Given the description of an element on the screen output the (x, y) to click on. 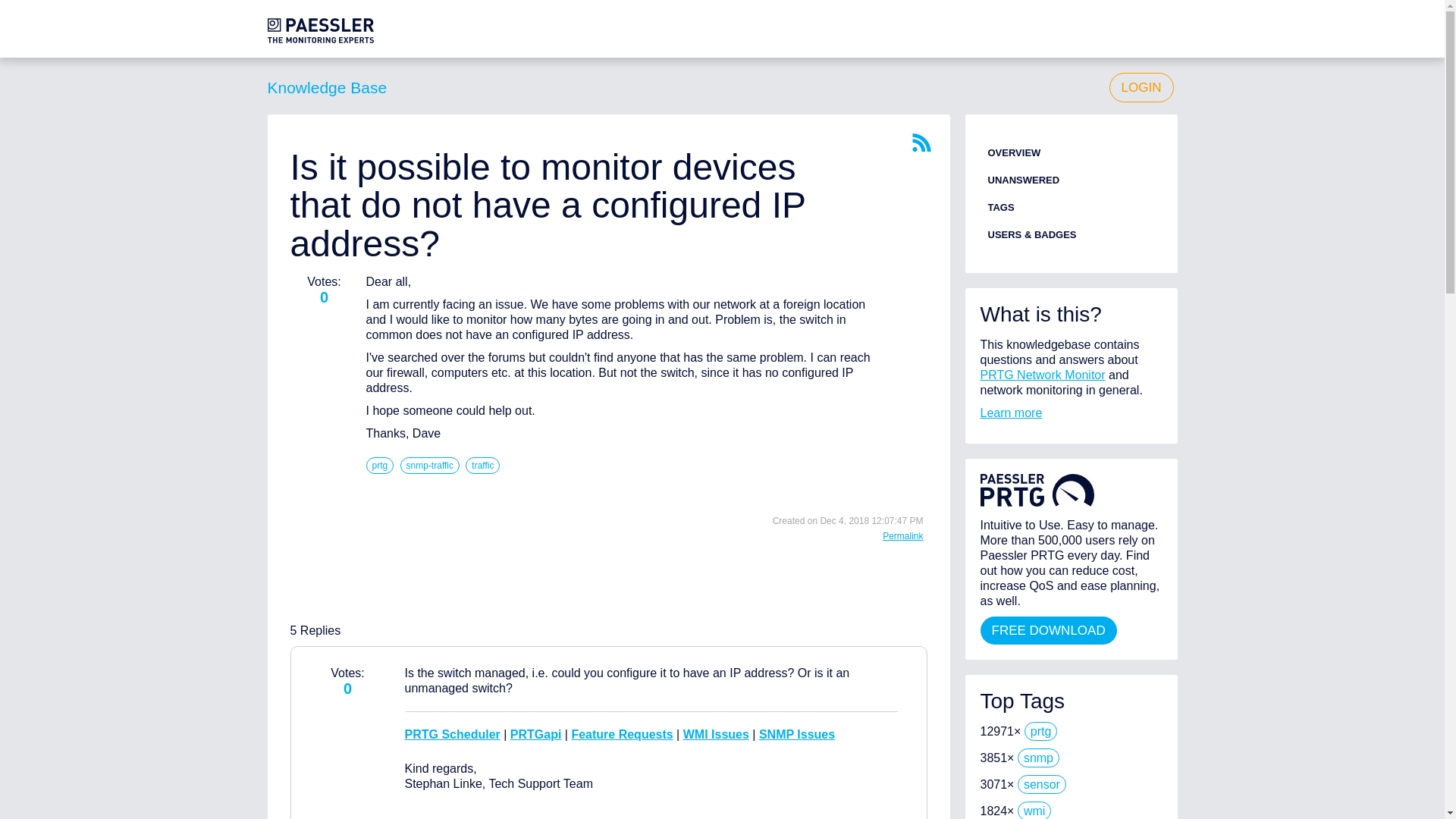
prtg (379, 465)
OVERVIEW (1014, 152)
UNANSWERED (1023, 179)
Permalink to this reply (902, 535)
The feed for this page (921, 142)
TAGS (1000, 206)
prtg (1041, 731)
snmp (1038, 757)
traffic (482, 465)
PRTG Scheduler (452, 734)
